Given the description of an element on the screen output the (x, y) to click on. 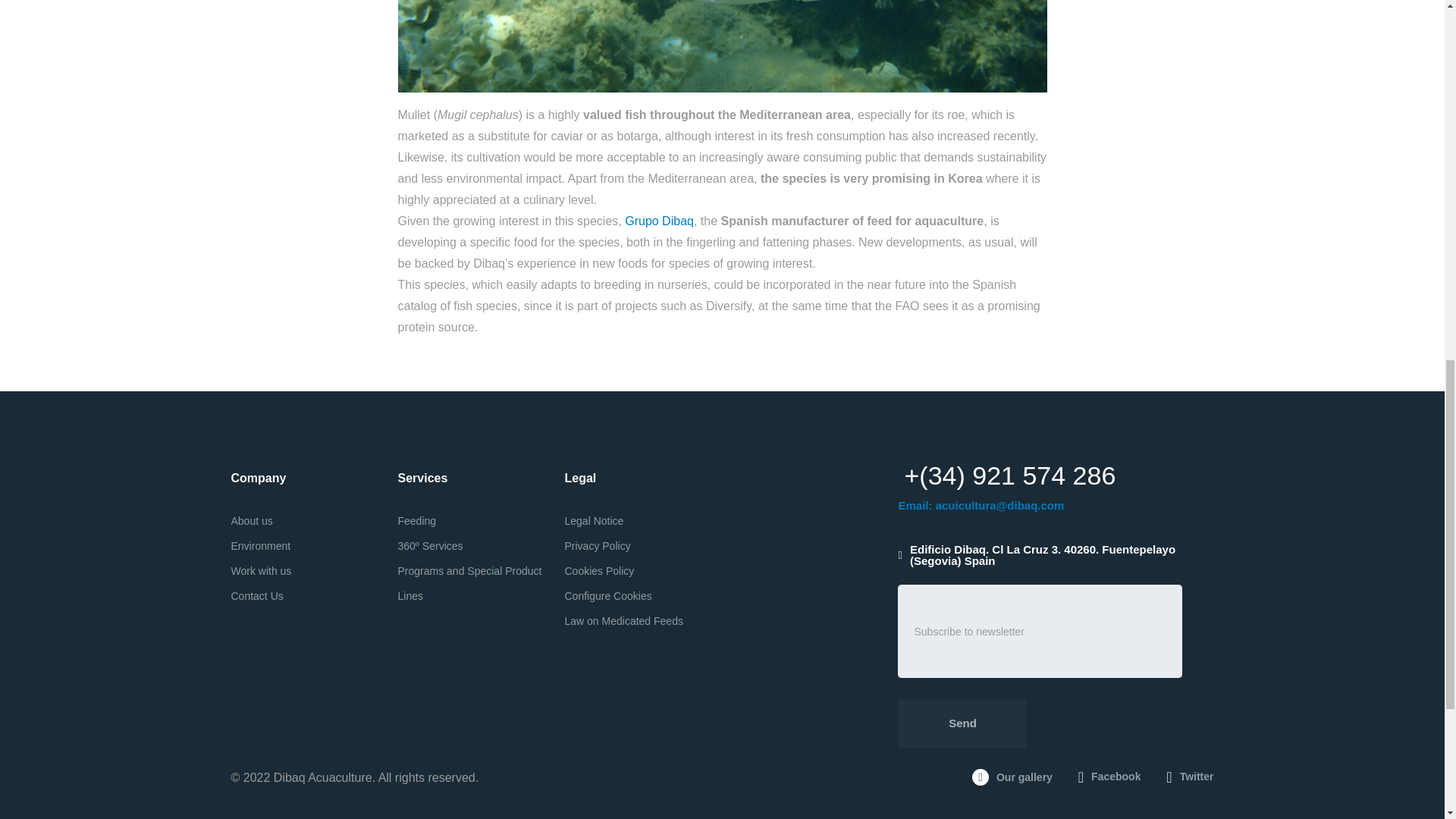
Facebook (1109, 776)
Our gallery (1012, 777)
Our gallery (1012, 777)
Twitter (1189, 776)
Grupo Dibaq (659, 220)
Environment (259, 545)
Programs and Special Product Lines (469, 583)
Configure Cookies (607, 595)
Send (962, 723)
Privacy Policy (597, 545)
